Given the description of an element on the screen output the (x, y) to click on. 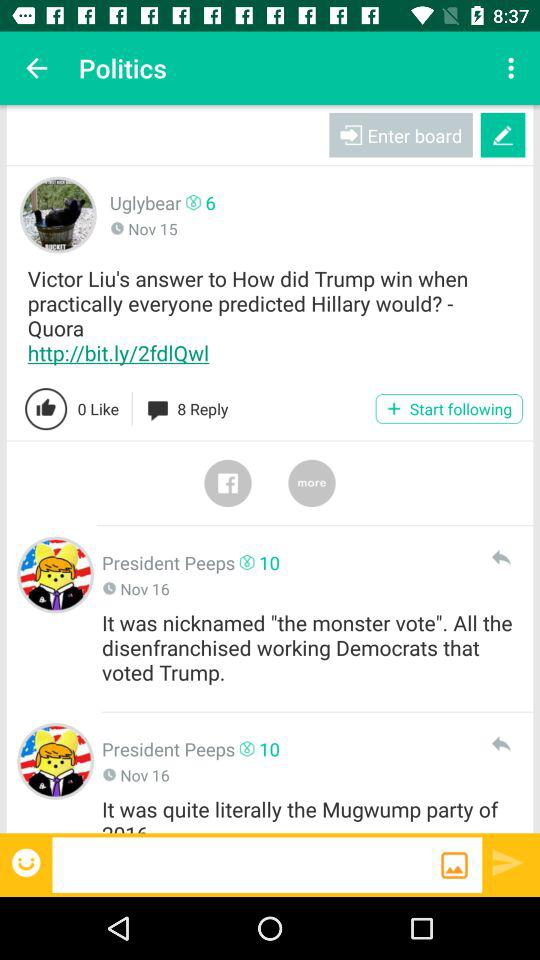
reply to comment (500, 557)
